Given the description of an element on the screen output the (x, y) to click on. 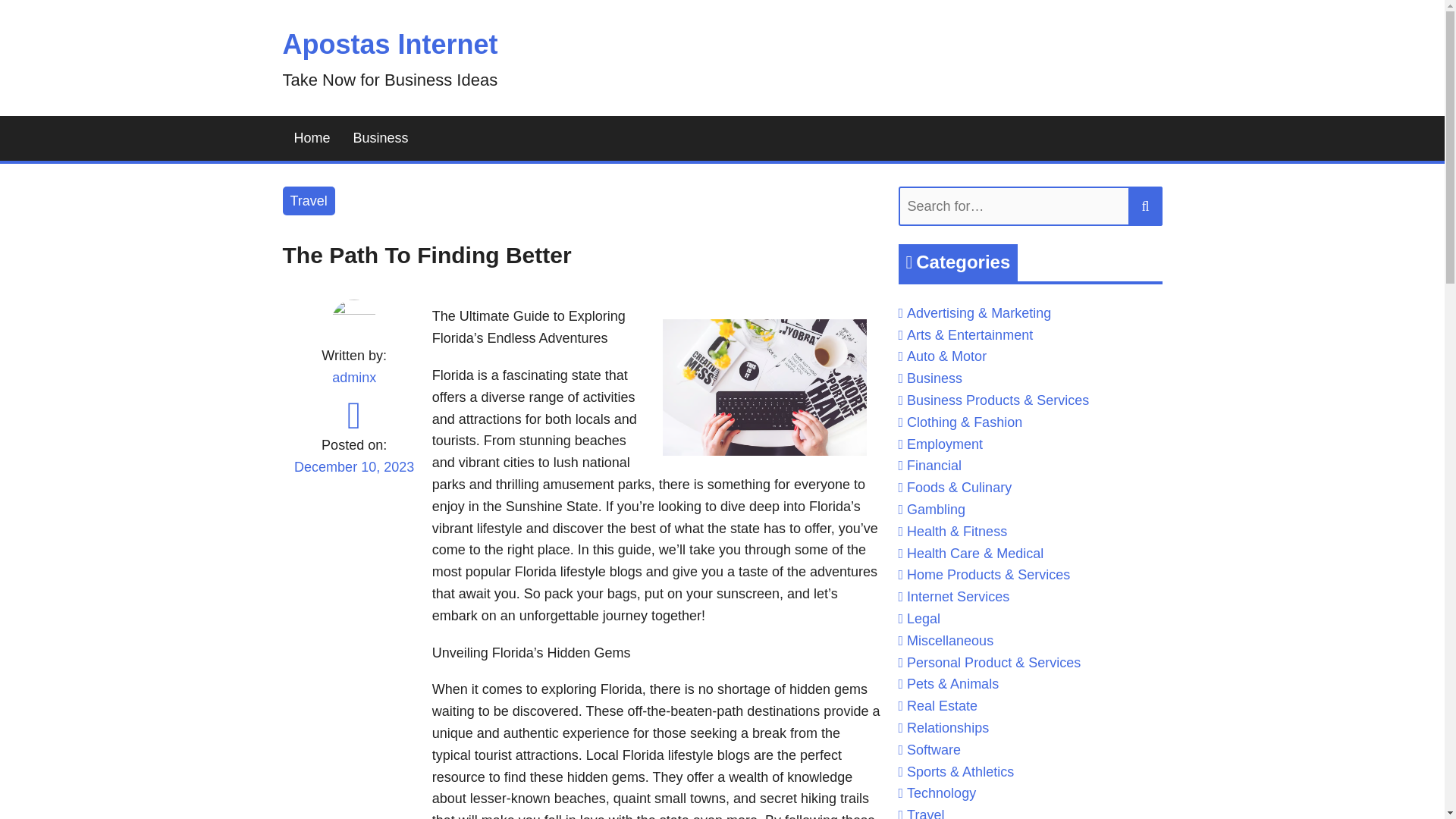
Miscellaneous (949, 640)
Legal (923, 618)
Travel (925, 813)
Search for: (1029, 206)
Relationships (947, 727)
Travel (308, 201)
Technology (941, 792)
Home (311, 138)
Apostas Internet (389, 43)
Software (933, 749)
Employment (944, 444)
Real Estate (941, 705)
adminx (353, 377)
Financial (933, 465)
December 10, 2023 (353, 476)
